Given the description of an element on the screen output the (x, y) to click on. 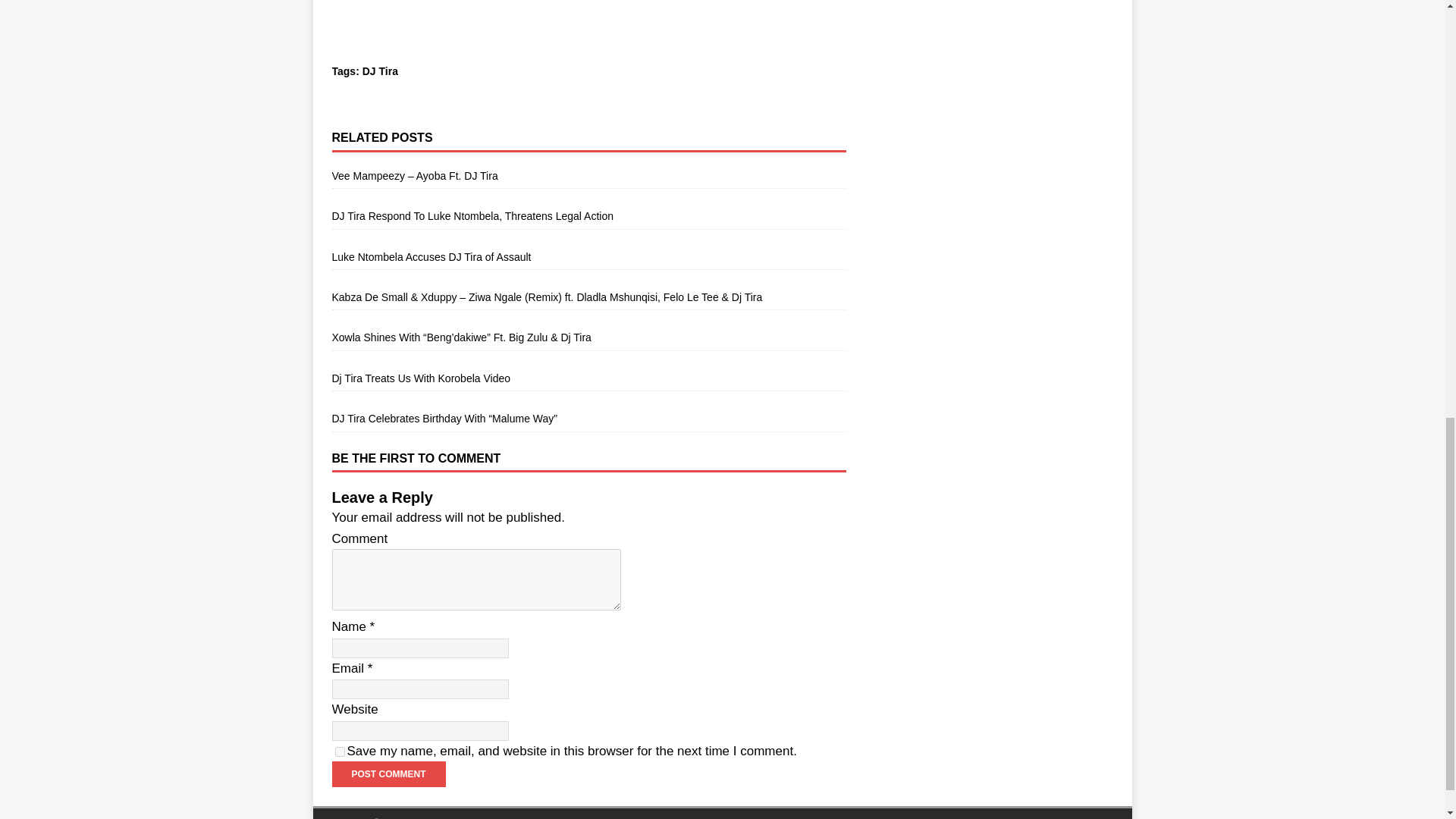
DJ Tira Respond To Luke Ntombela, Threatens Legal Action (471, 215)
Dj Tira Treats Us With Korobela Video (421, 378)
yes (339, 751)
Permanent Link to Luke Ntombela Accuses DJ Tira of Assault (431, 256)
Permanent Link to Dj Tira Treats Us With Korobela Video (421, 378)
DJ Tira (379, 70)
Luke Ntombela Accuses DJ Tira of Assault (431, 256)
Post Comment (388, 774)
Post Comment (388, 774)
